Given the description of an element on the screen output the (x, y) to click on. 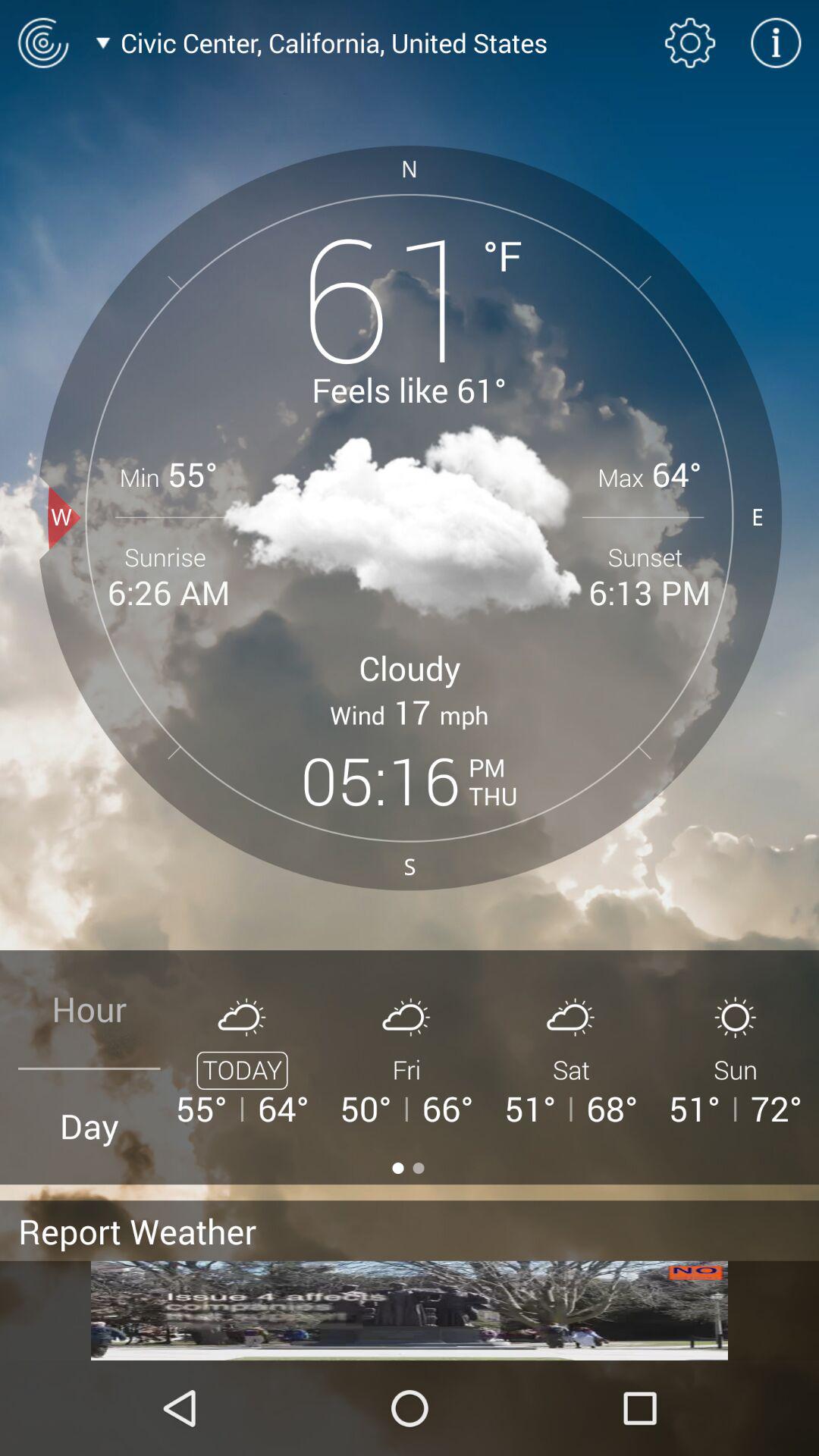
settings gear icon (690, 42)
